Given the description of an element on the screen output the (x, y) to click on. 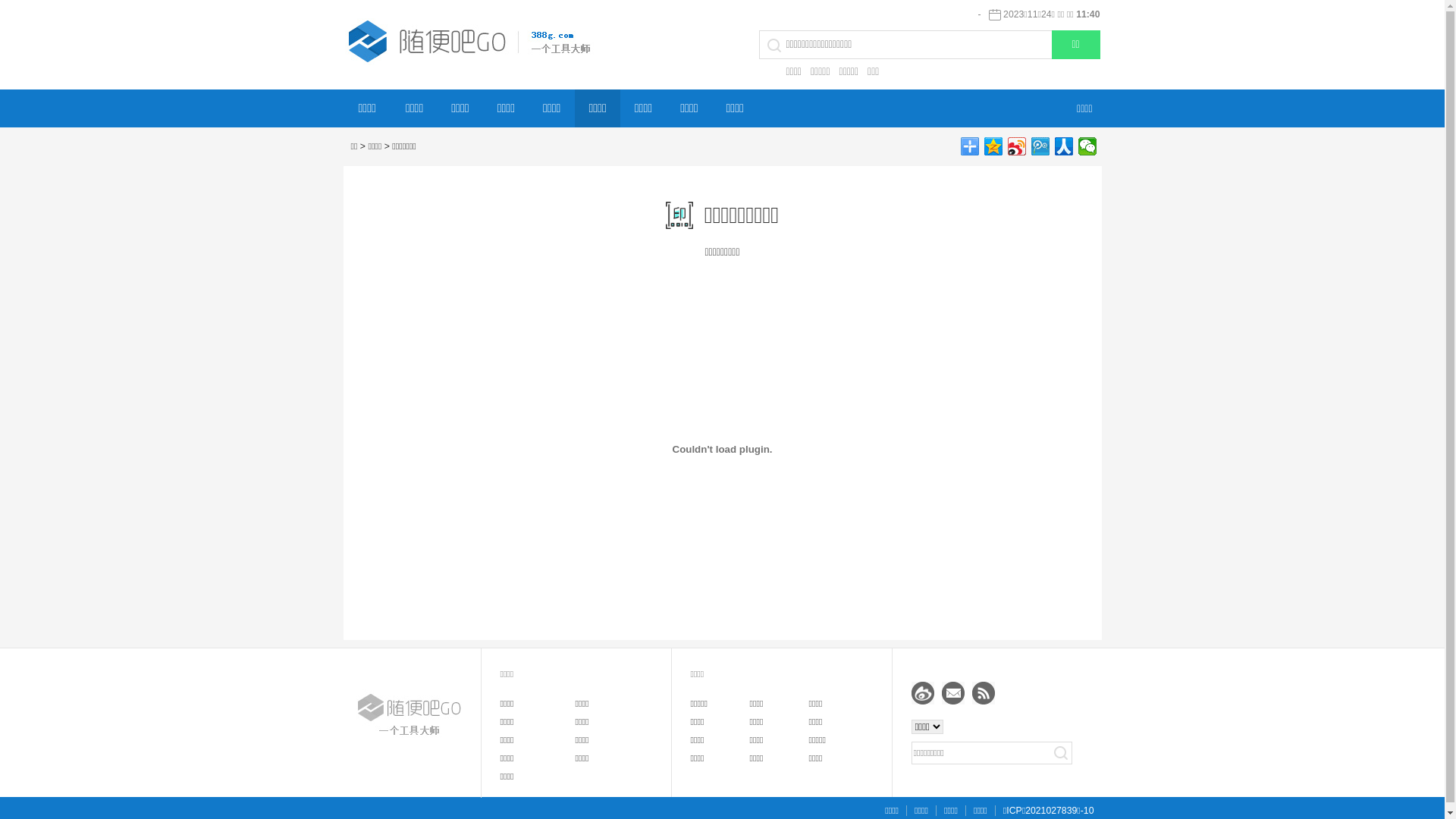
rss Element type: hover (983, 692)
email Element type: hover (952, 692)
weibo Element type: hover (922, 692)
  Element type: text (1059, 752)
